Given the description of an element on the screen output the (x, y) to click on. 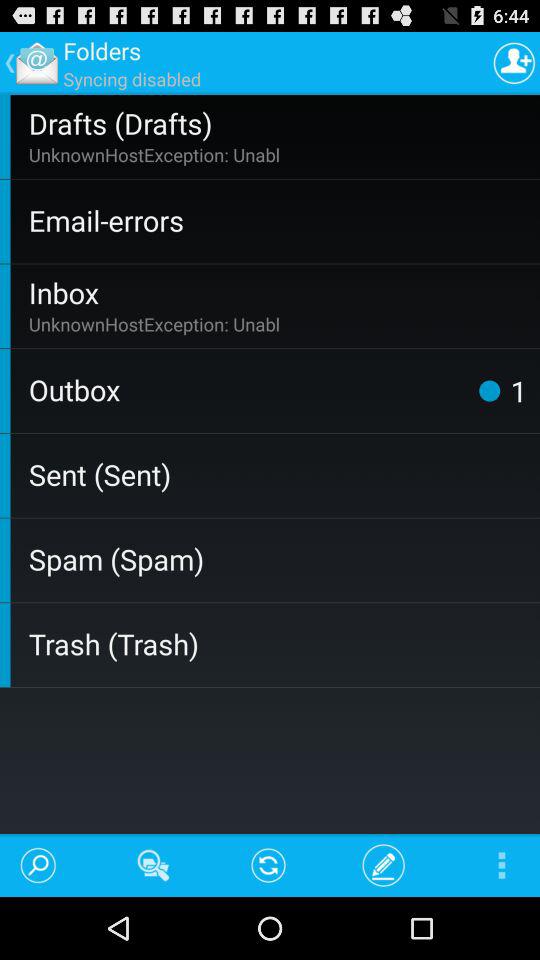
press to add (514, 62)
